Given the description of an element on the screen output the (x, y) to click on. 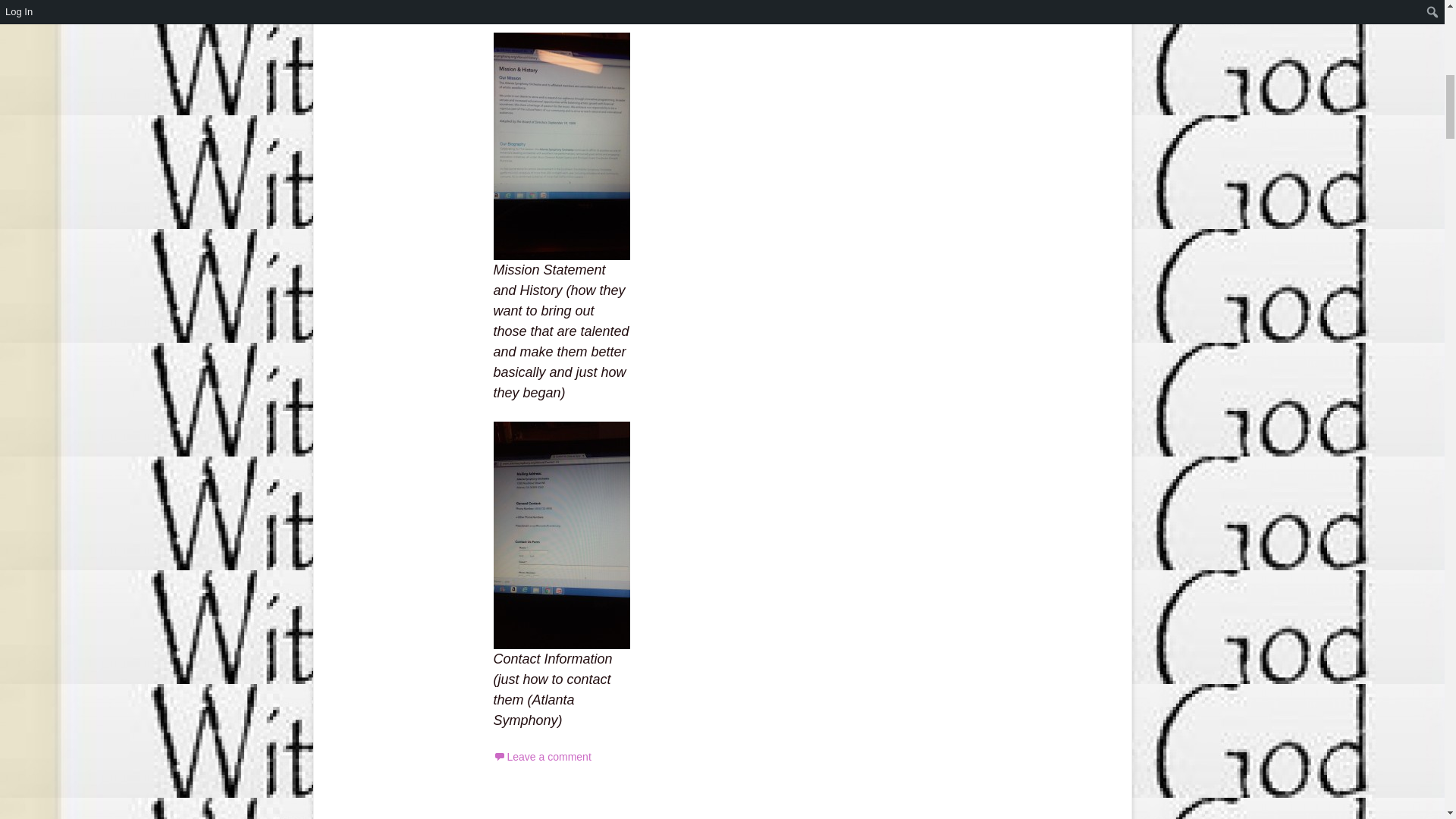
Leave a comment (542, 756)
